Given the description of an element on the screen output the (x, y) to click on. 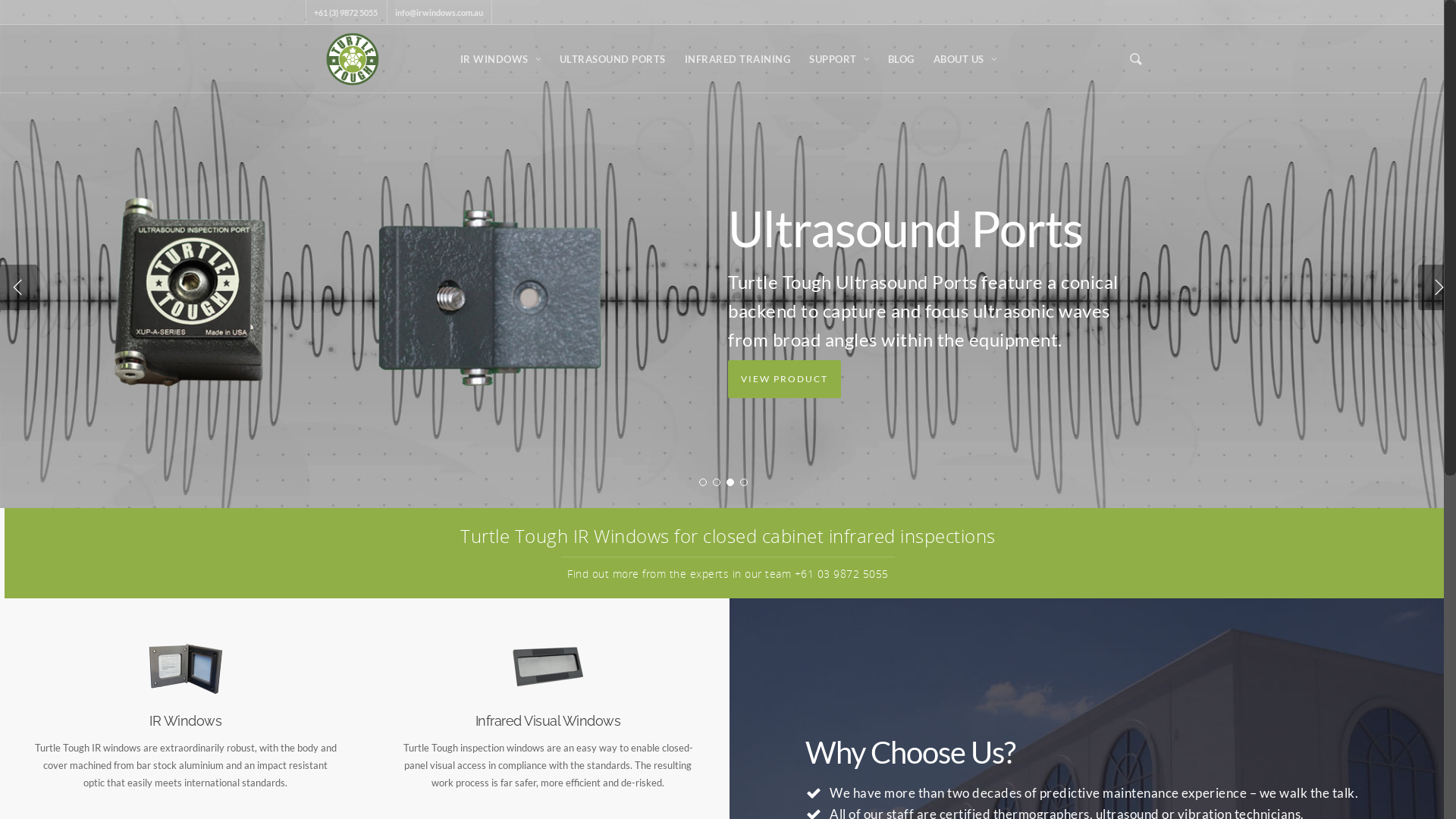
VIEW PRODUCT Element type: text (784, 378)
IR Windows Element type: text (185, 720)
Infrared Visual Windows Element type: text (548, 720)
info@irwindows.com.au Element type: text (438, 12)
ULTRASOUND PORTS Element type: text (612, 60)
SUPPORT Element type: text (838, 60)
ABOUT US Element type: text (964, 60)
+61 (3) 9872 5055 Element type: text (345, 12)
BLOG Element type: text (900, 60)
INFRARED TRAINING Element type: text (736, 60)
IR WINDOWS Element type: text (499, 60)
